Given the description of an element on the screen output the (x, y) to click on. 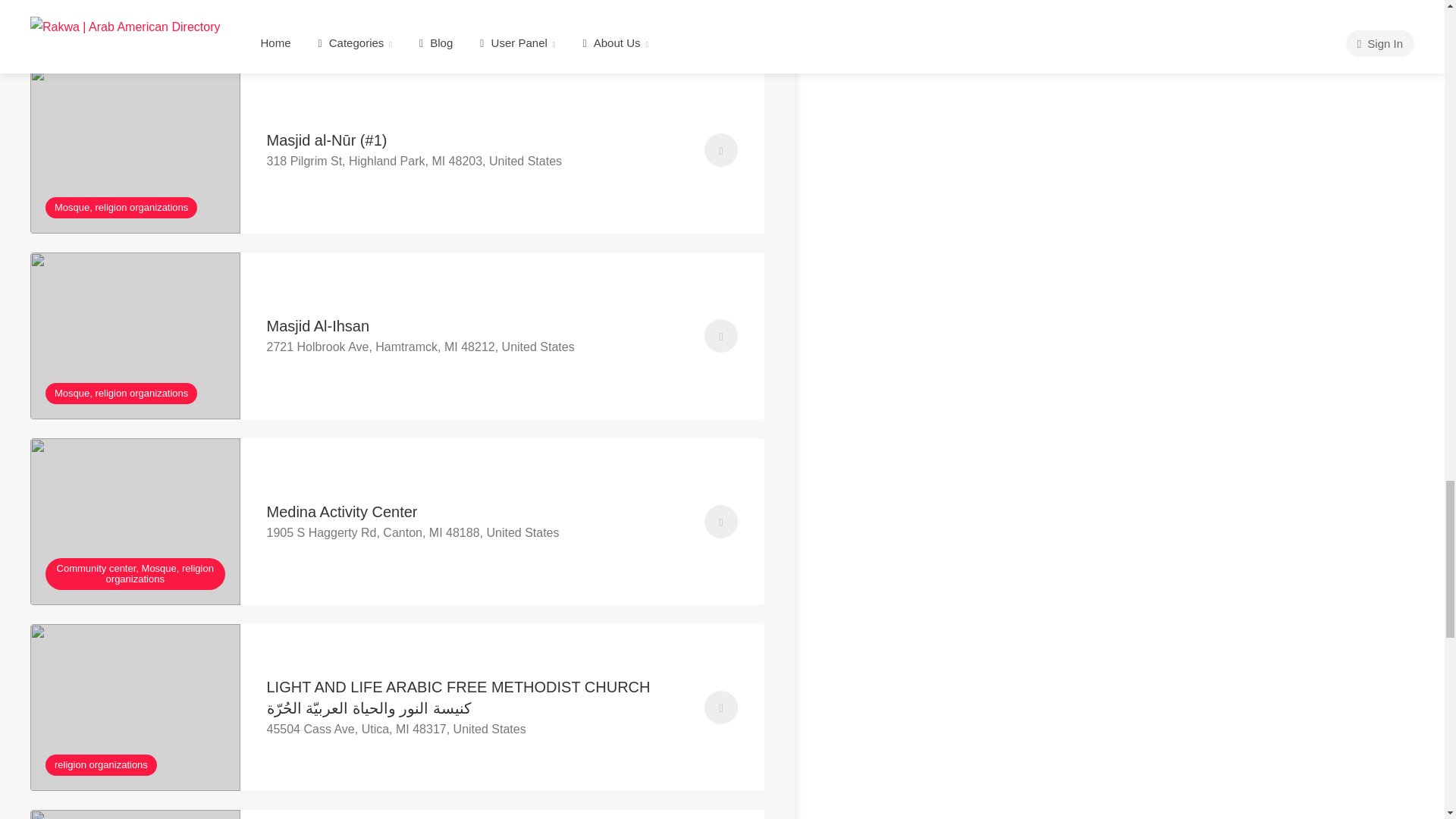
Login To Bookmark Items (721, 150)
